Given the description of an element on the screen output the (x, y) to click on. 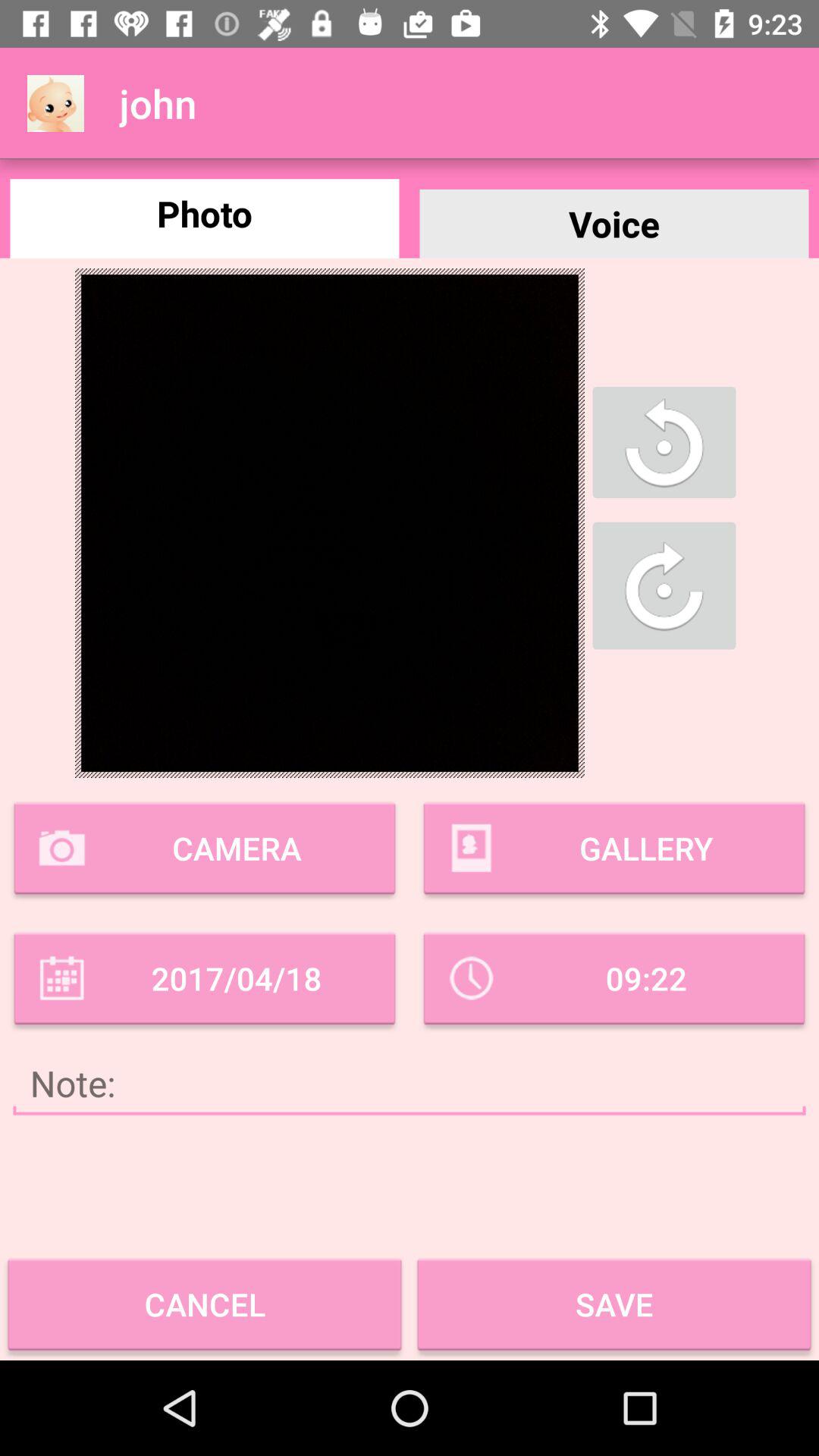
go to next (663, 585)
